Given the description of an element on the screen output the (x, y) to click on. 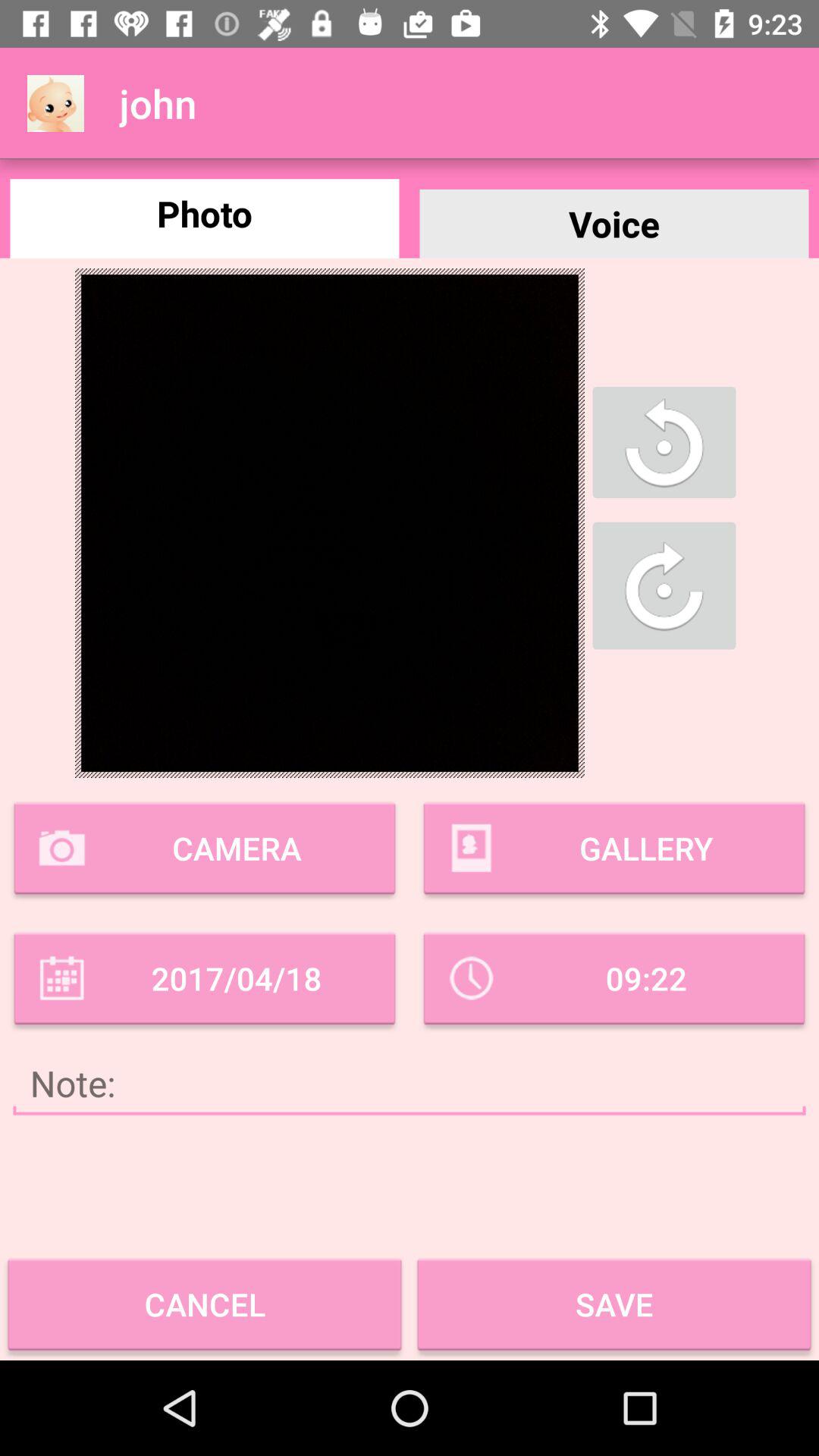
go to next (663, 585)
